Given the description of an element on the screen output the (x, y) to click on. 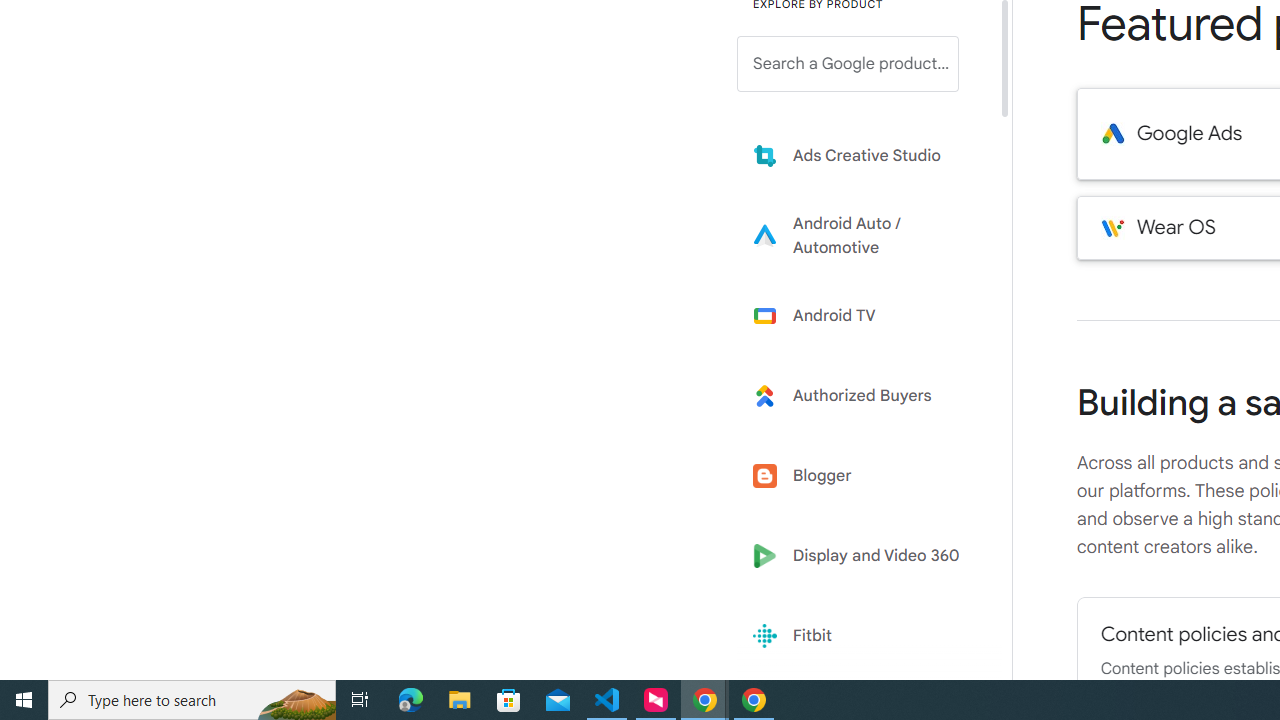
Learn more about Android Auto (862, 235)
Fitbit (862, 636)
Display and Video 360 (862, 556)
Learn more about Android TV (862, 315)
Blogger (862, 476)
Learn more about Authorized Buyers (862, 395)
Search a Google product from below list. (847, 64)
Blogger (862, 476)
Learn more about Android Auto (862, 235)
Learn more about Authorized Buyers (862, 395)
Learn more about Ads Creative Studio (862, 155)
Learn more about Ads Creative Studio (862, 155)
Display and Video 360 (862, 556)
Learn more about Android TV (862, 315)
Fitbit (862, 636)
